Given the description of an element on the screen output the (x, y) to click on. 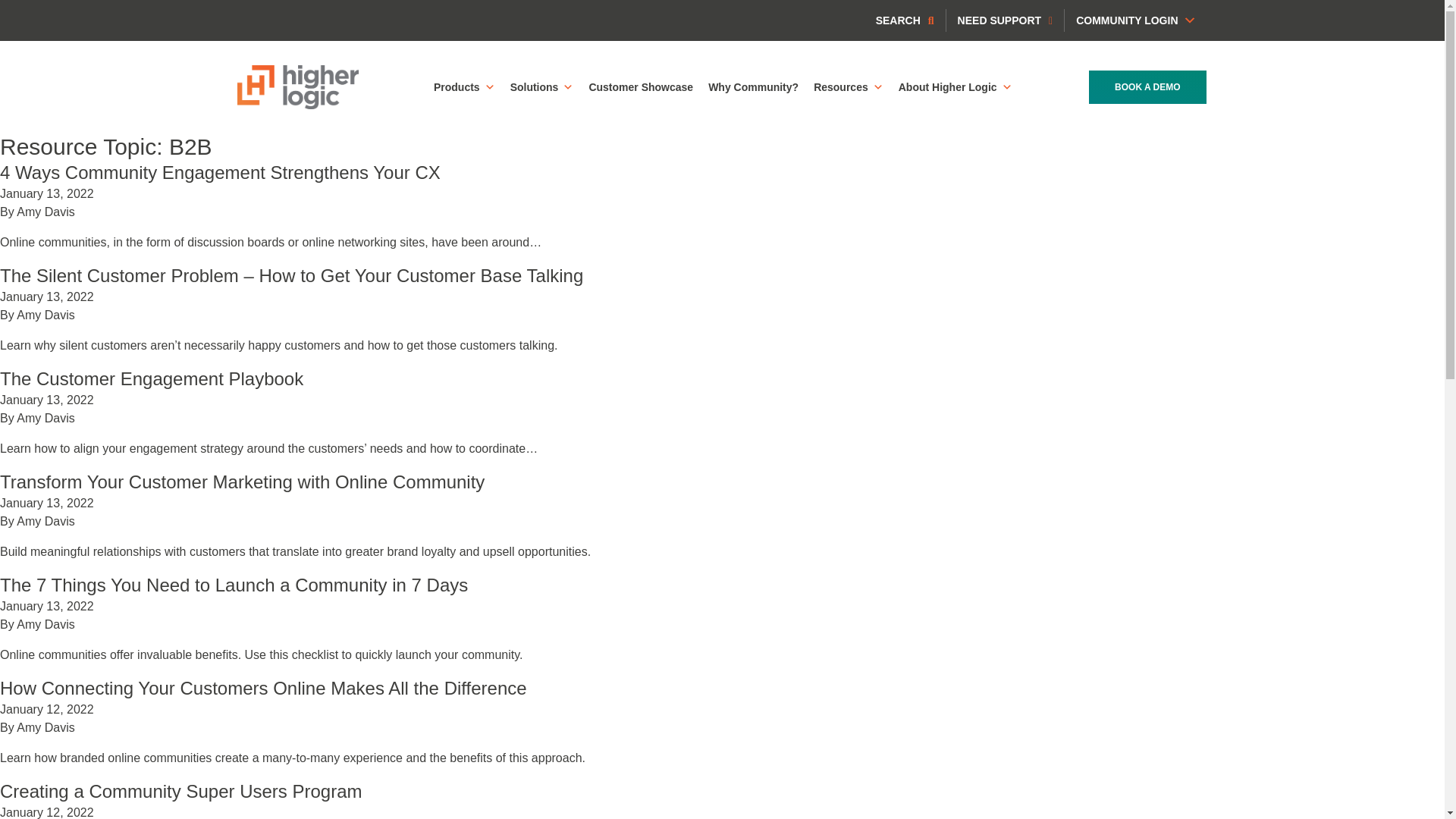
Products (464, 87)
Solutions (541, 87)
Why Community? (753, 87)
Customer Showcase (640, 87)
SEARCH (904, 20)
NEED SUPPORT (1005, 20)
COMMUNITY LOGIN (1135, 20)
